Given the description of an element on the screen output the (x, y) to click on. 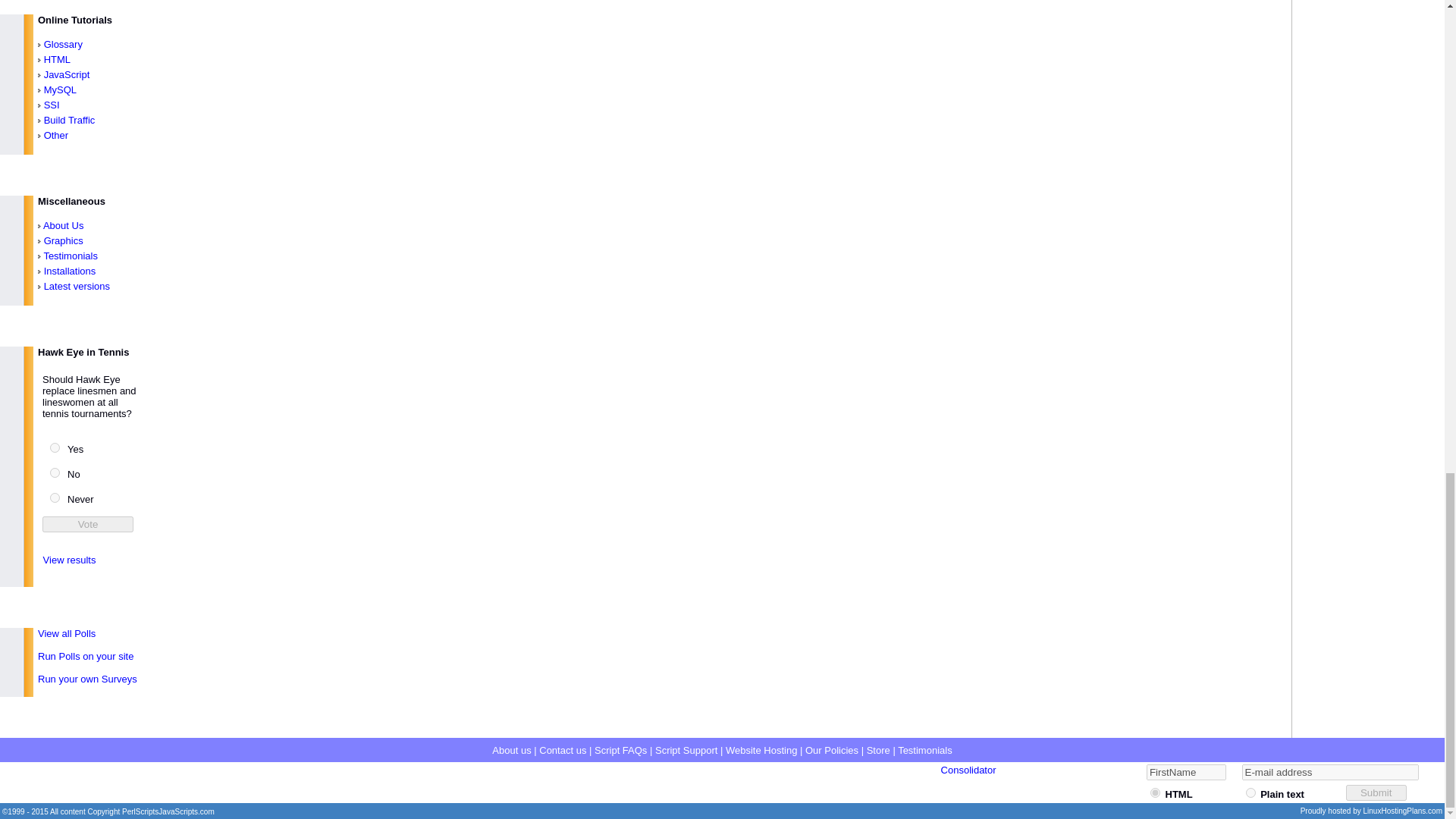
FirstName (1186, 772)
E-mail address (1329, 772)
Yes (54, 447)
Vote (87, 524)
Never (54, 497)
No (54, 472)
